Given the description of an element on the screen output the (x, y) to click on. 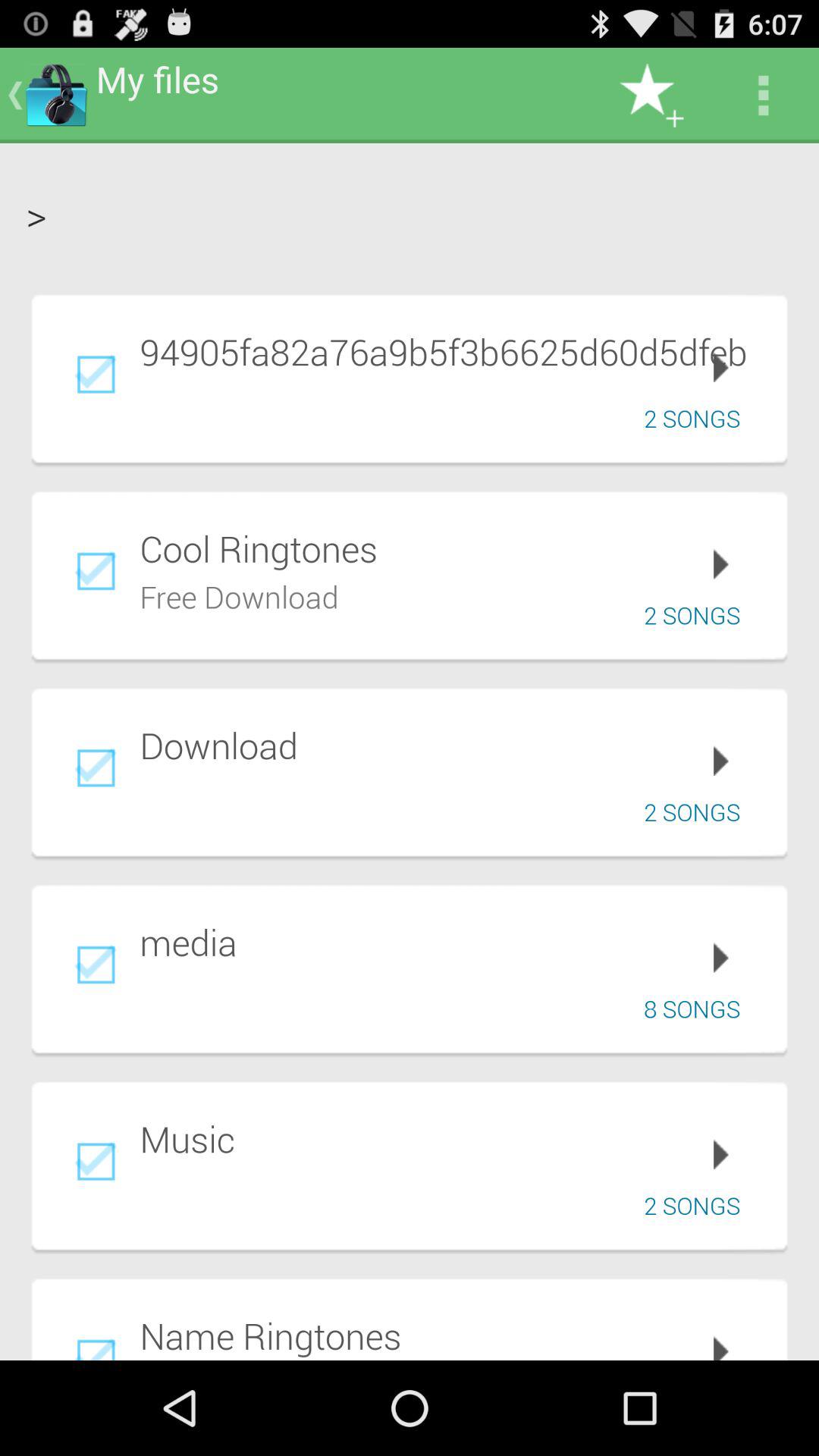
tap cool ringtones icon (452, 548)
